Given the description of an element on the screen output the (x, y) to click on. 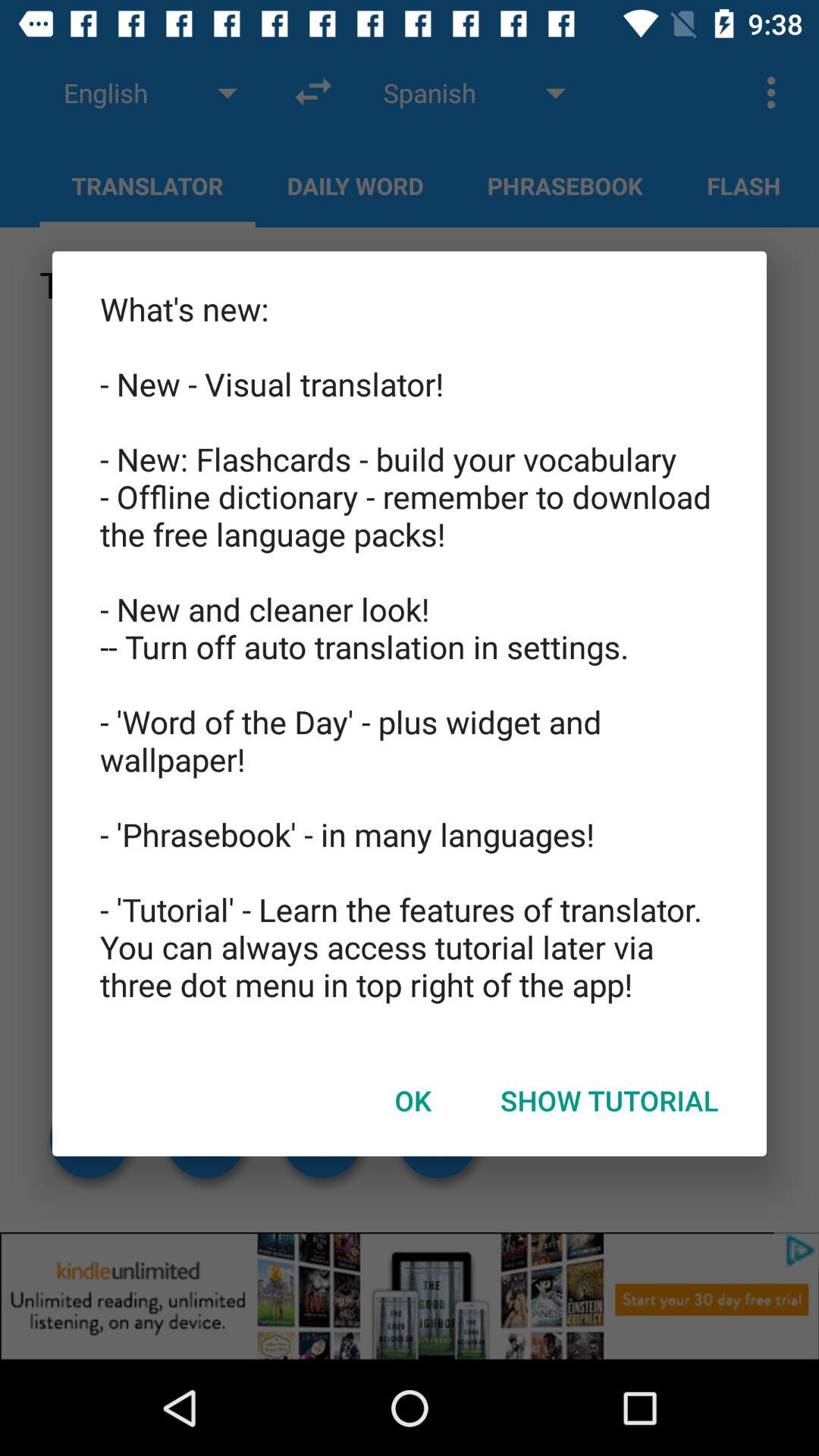
scroll to show tutorial icon (609, 1100)
